Given the description of an element on the screen output the (x, y) to click on. 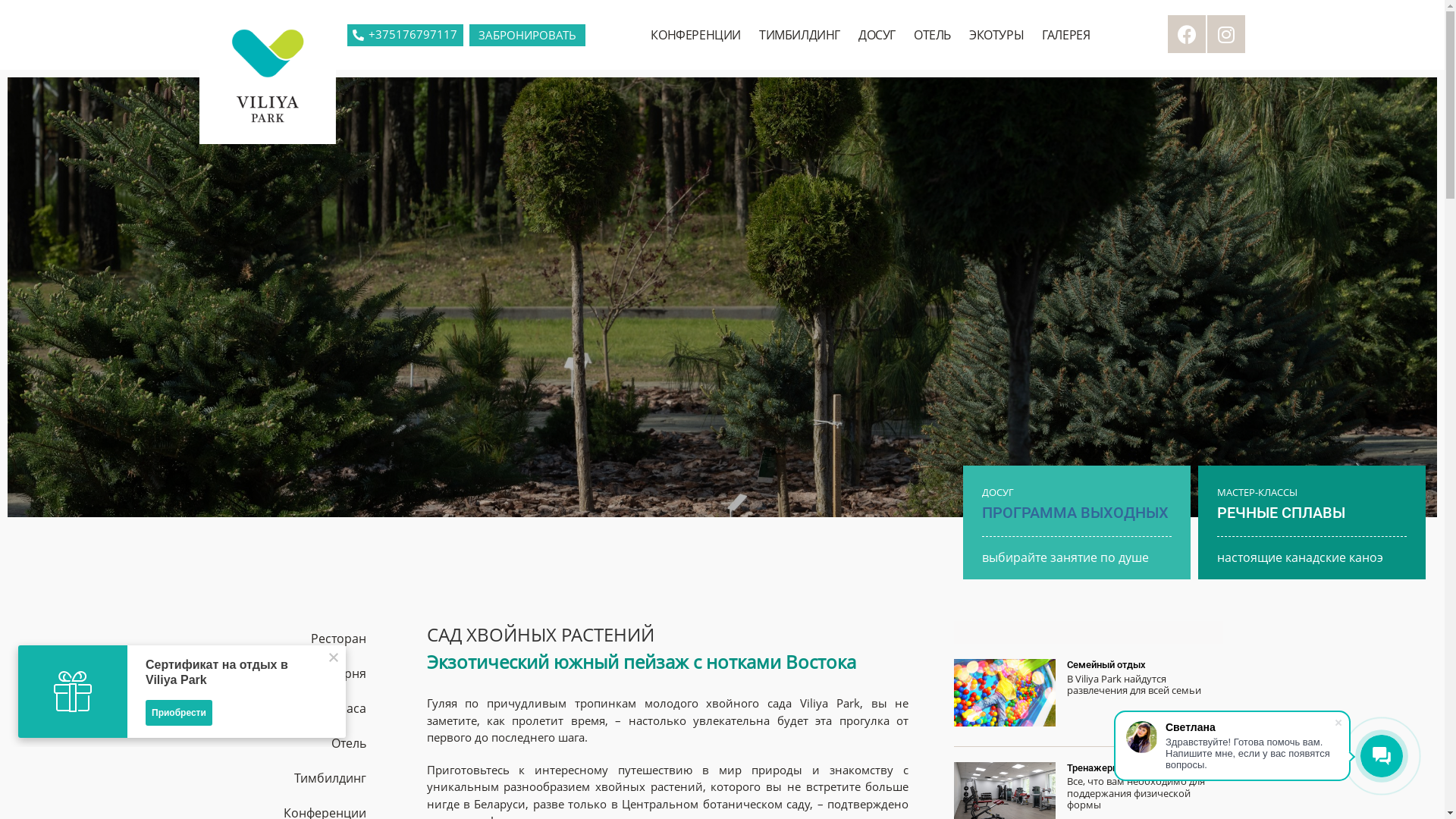
+375176797117 Element type: text (405, 35)
Viliya-Park-Family-16 Element type: hover (1004, 692)
